Given the description of an element on the screen output the (x, y) to click on. 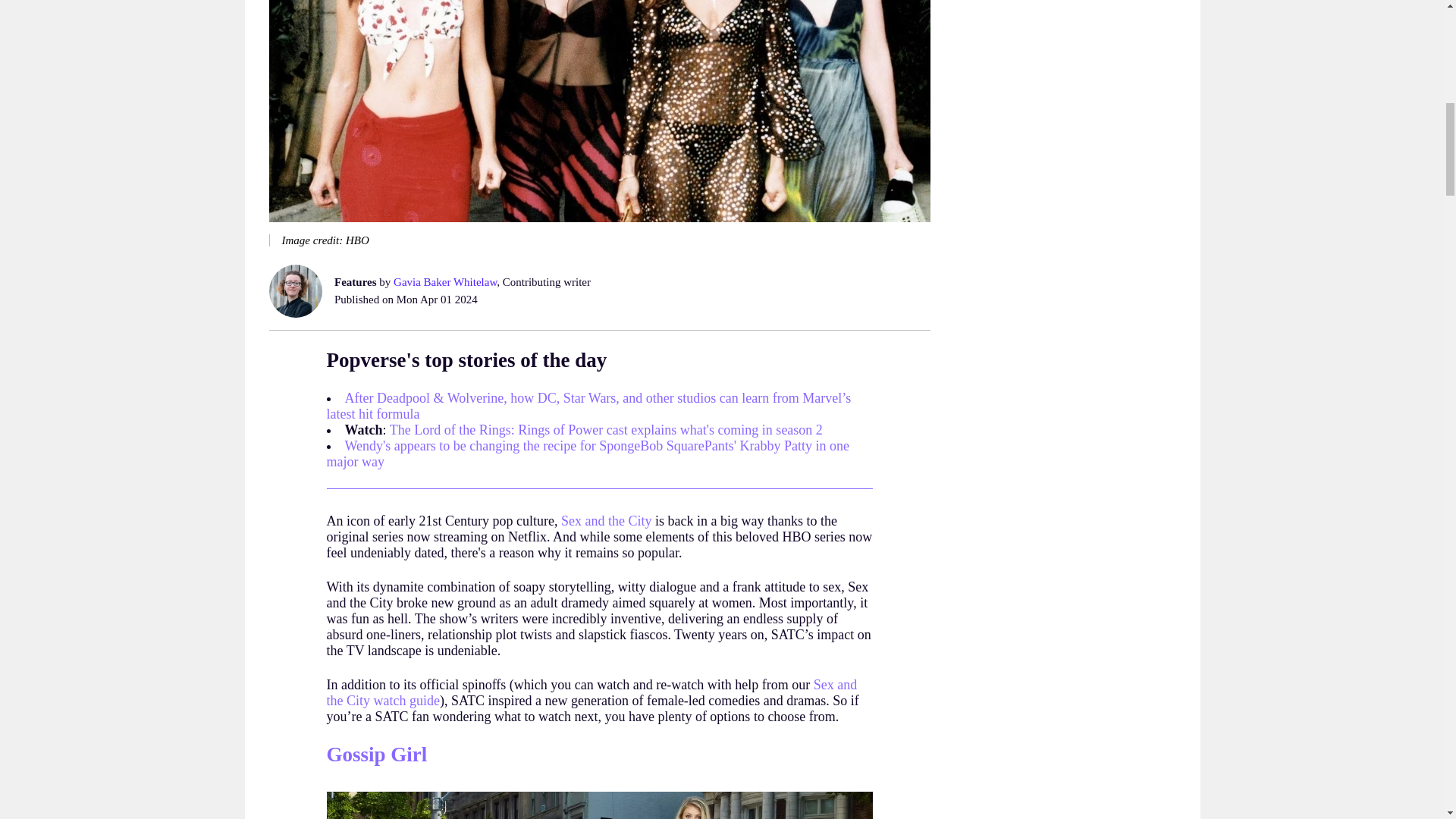
Sex and the City (606, 520)
Gavia Baker Whitelaw (444, 282)
Gossip Girl (376, 753)
Sex and the City watch guide (591, 692)
